Given the description of an element on the screen output the (x, y) to click on. 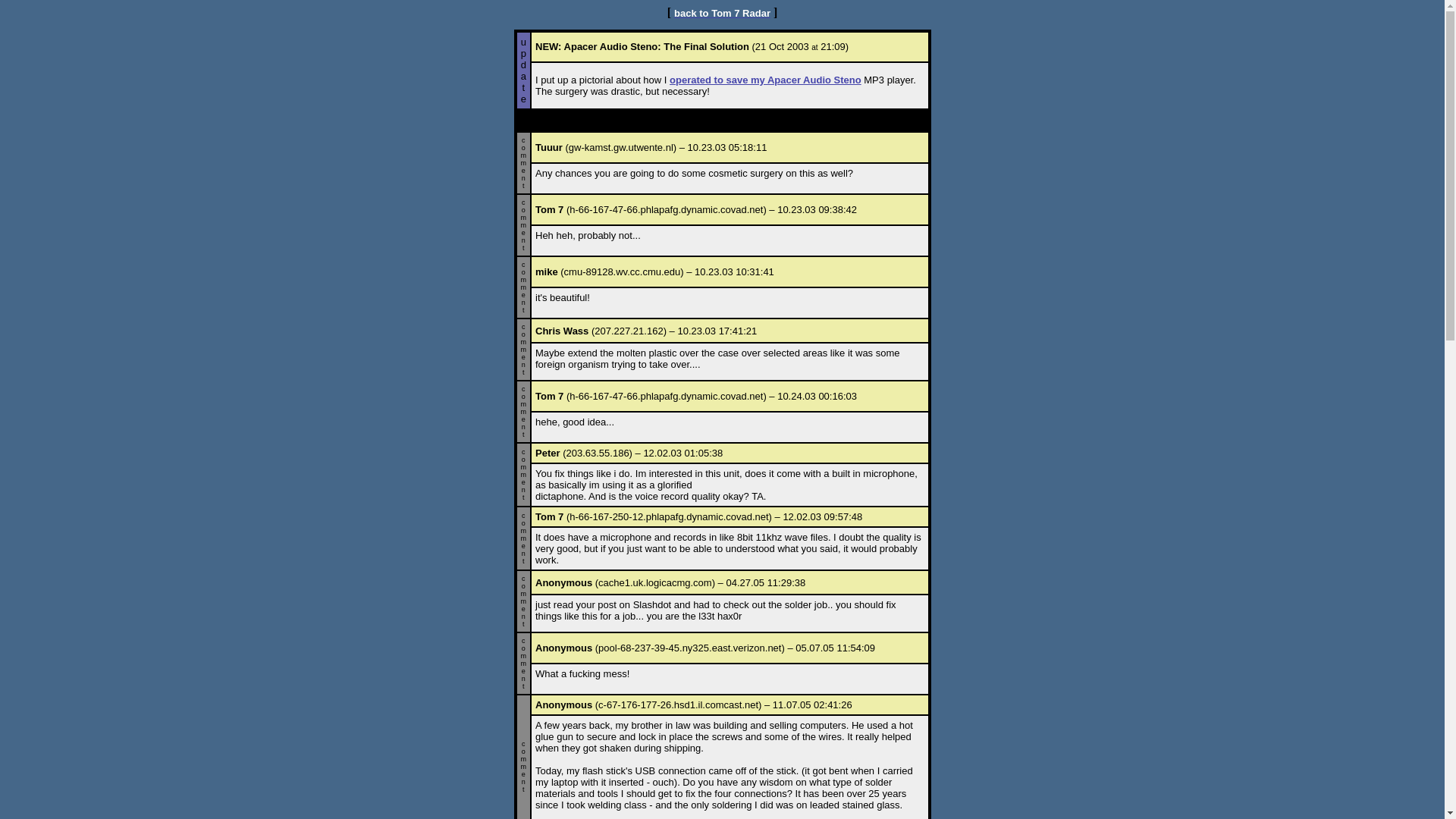
operated to save my Apacer Audio Steno (765, 79)
back to Tom 7 Radar (722, 12)
